Given the description of an element on the screen output the (x, y) to click on. 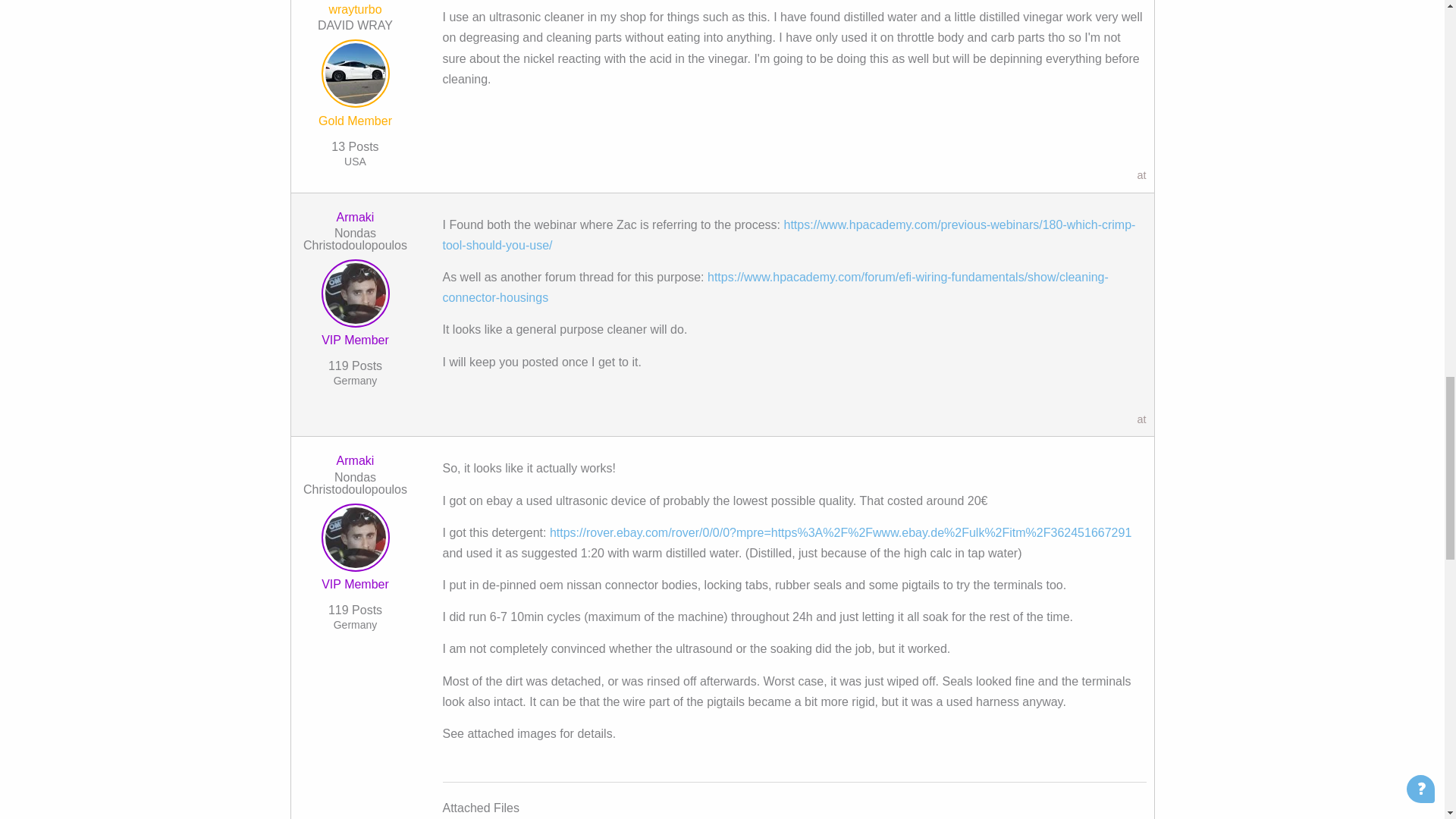
Click here to view Armaki  (355, 540)
Click here to view Armaki  (355, 296)
Click here to view Armaki  (355, 460)
Click here to view wrayturbo (355, 76)
Click here to view wrayturbo (355, 9)
Click here to view Armaki  (355, 216)
